Given the description of an element on the screen output the (x, y) to click on. 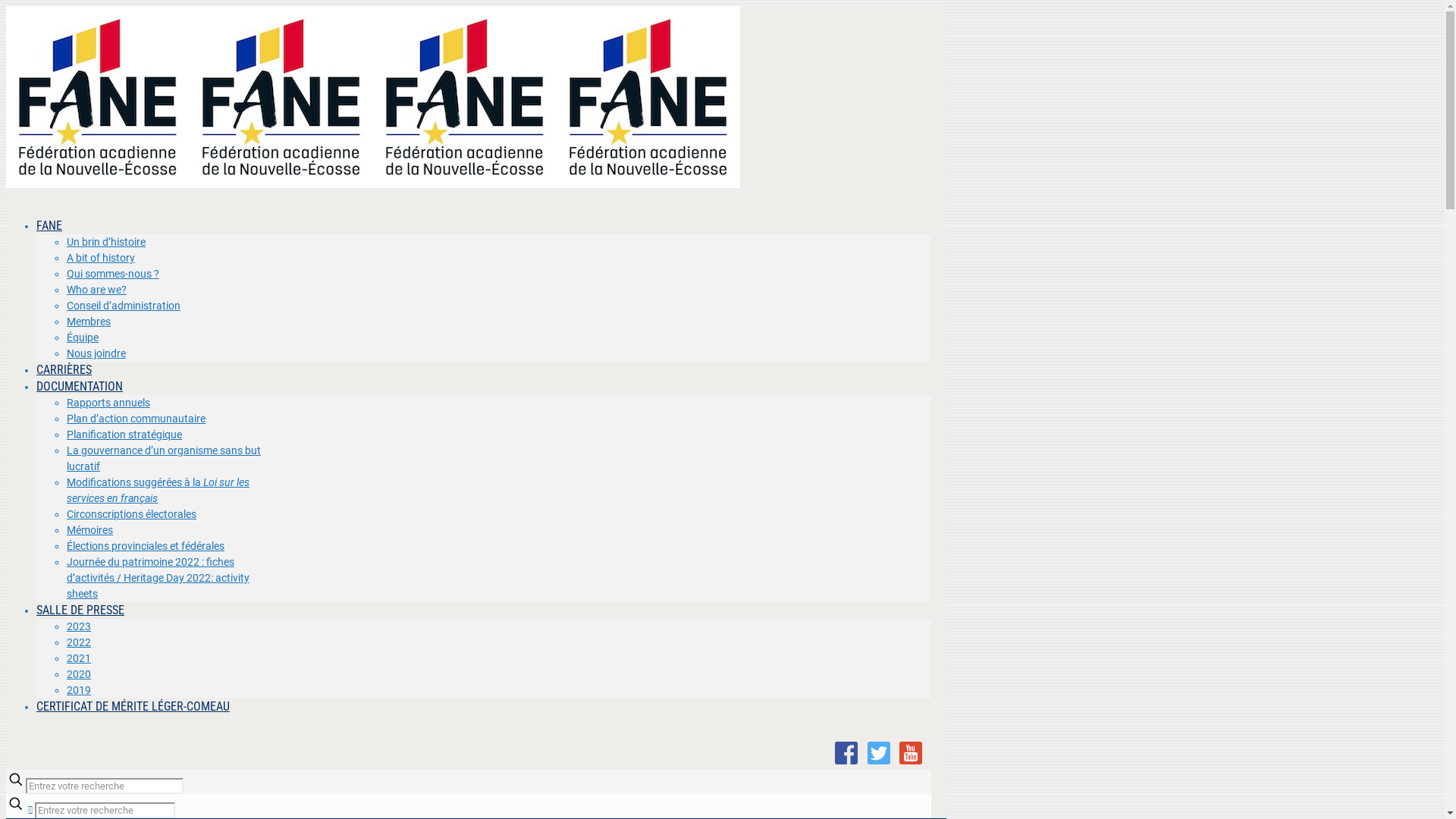
Who are we? Element type: text (96, 289)
Nous joindre Element type: text (95, 353)
2020 Element type: text (78, 674)
2021 Element type: text (78, 658)
Membres Element type: text (88, 321)
SALLE DE PRESSE Element type: text (80, 609)
A bit of history Element type: text (100, 257)
2023 Element type: text (78, 626)
FANE Element type: text (49, 225)
2019 Element type: text (78, 690)
2022 Element type: text (78, 642)
Rapports annuels Element type: text (108, 402)
Qui sommes-nous ? Element type: text (112, 273)
DOCUMENTATION Element type: text (79, 385)
FANE Element type: hover (373, 183)
